Given the description of an element on the screen output the (x, y) to click on. 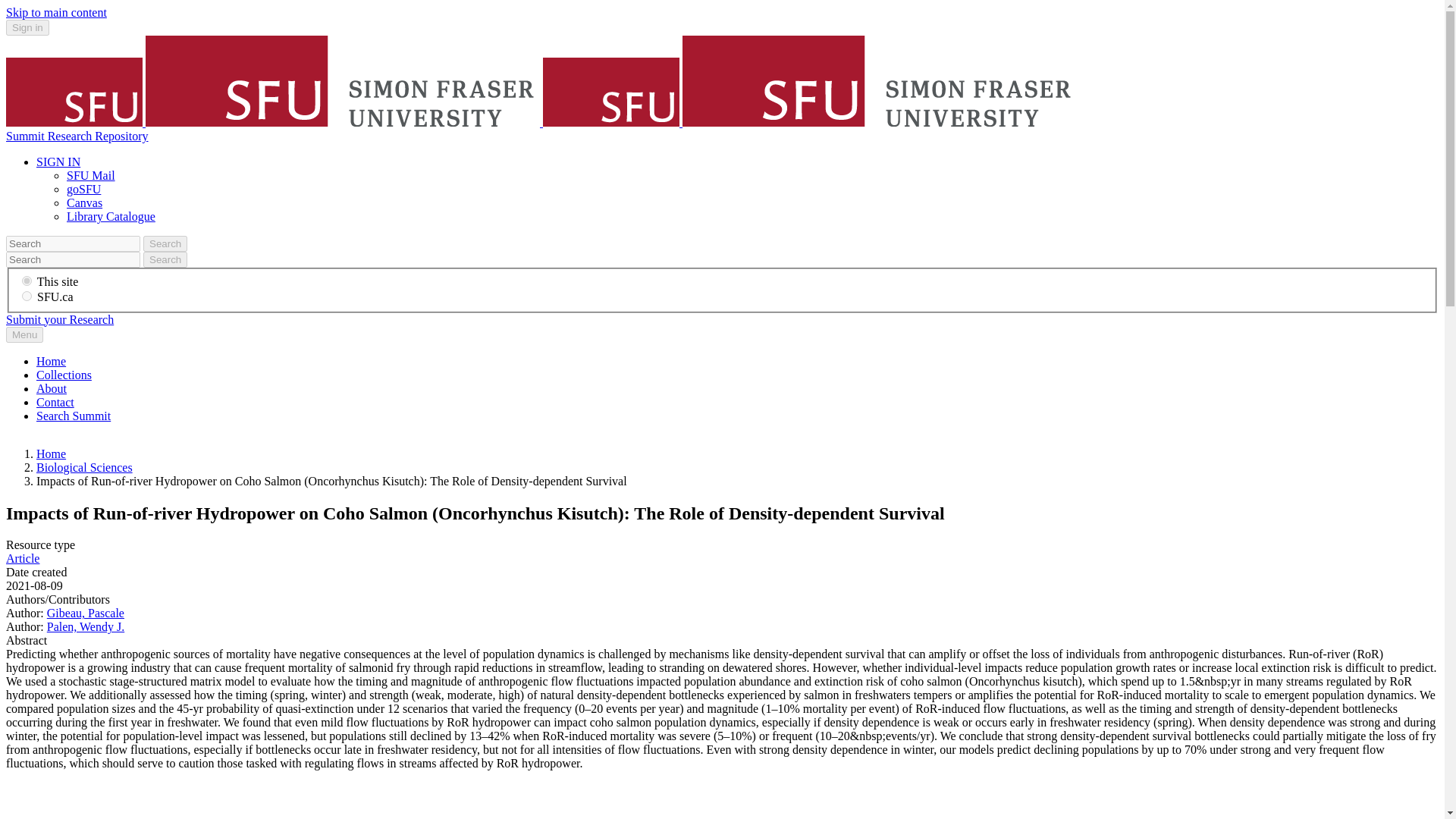
About this site (51, 388)
About (51, 388)
Gibeau, Pascale (84, 612)
Home (50, 360)
Search (164, 259)
Palen, Wendy J. (84, 626)
Homepage for SFU Summit website (50, 360)
Collections (63, 374)
Summit Research Repository (76, 135)
Sign in (27, 27)
Article (22, 558)
Contact details (55, 401)
Library Catalogue (110, 215)
Submit your Research (59, 318)
